Given the description of an element on the screen output the (x, y) to click on. 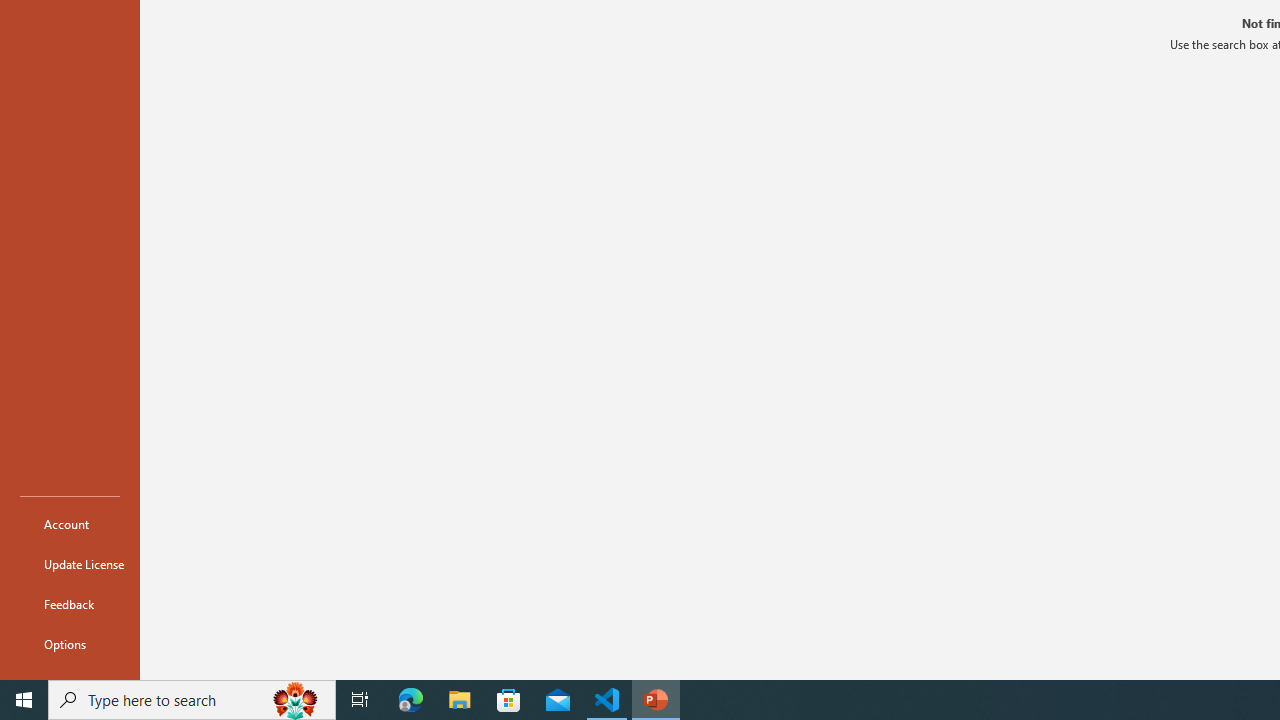
Feedback (69, 603)
Update License (69, 563)
Account (69, 523)
Options (69, 643)
